Given the description of an element on the screen output the (x, y) to click on. 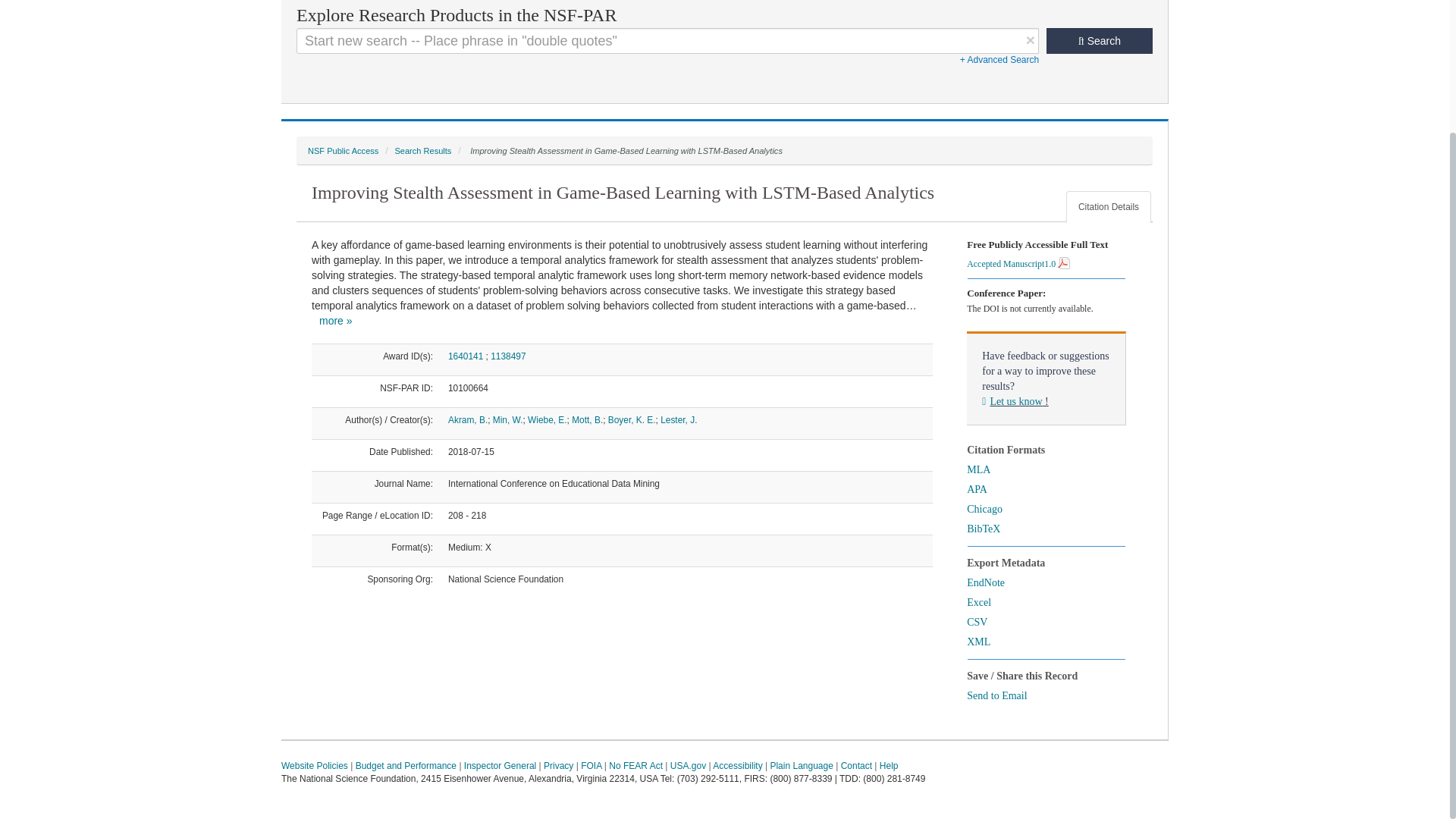
Wiebe, E. (547, 419)
Citation Details (1108, 206)
1138497 (507, 356)
Min, W. (507, 419)
Akram, B. (467, 419)
Search Results (422, 150)
NSF Public Access (342, 150)
Search (1099, 40)
1640141 (465, 356)
